Given the description of an element on the screen output the (x, y) to click on. 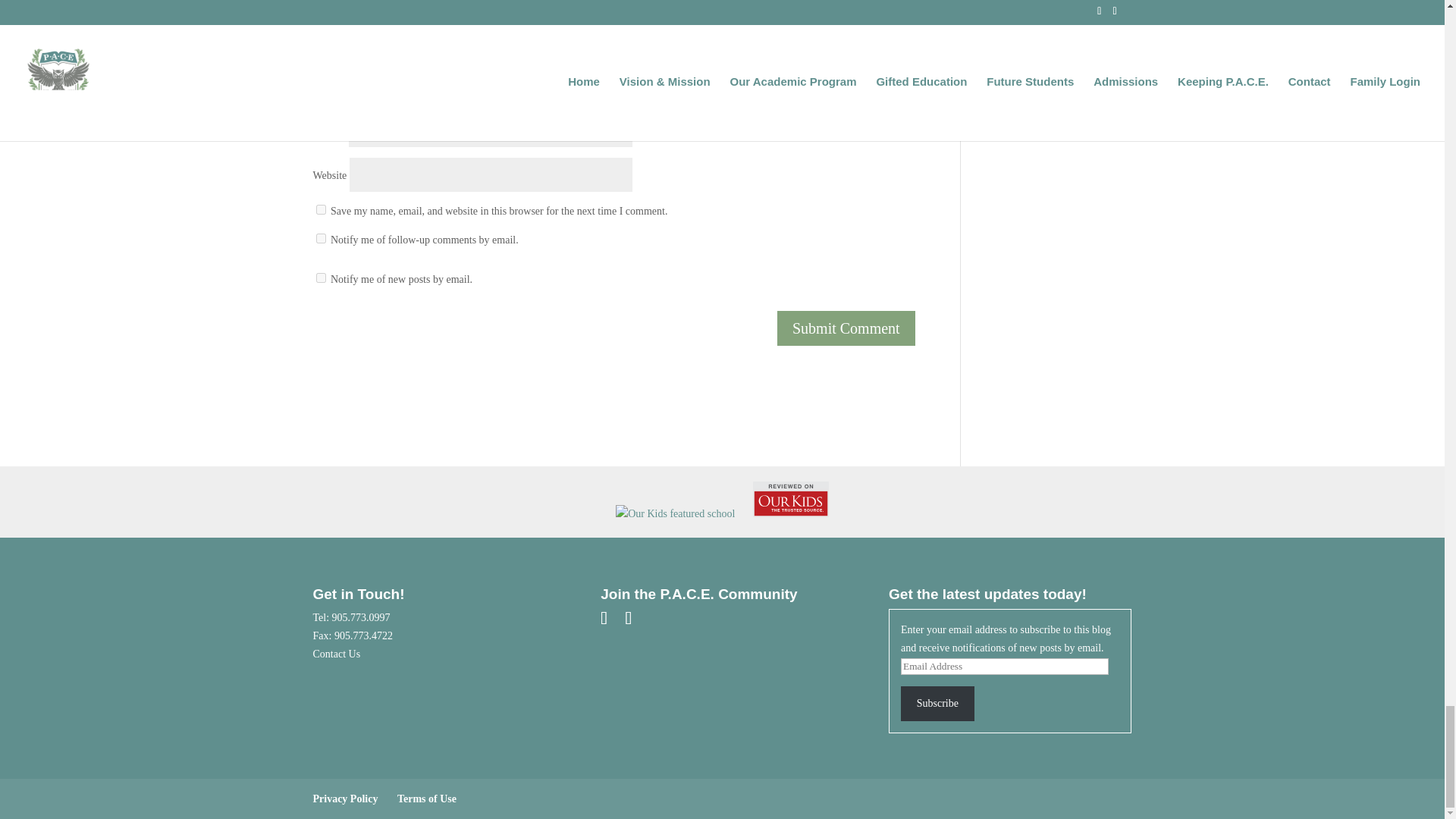
Submit Comment (845, 351)
subscribe (319, 261)
Submit Comment (845, 351)
subscribe (319, 301)
yes (319, 233)
